Given the description of an element on the screen output the (x, y) to click on. 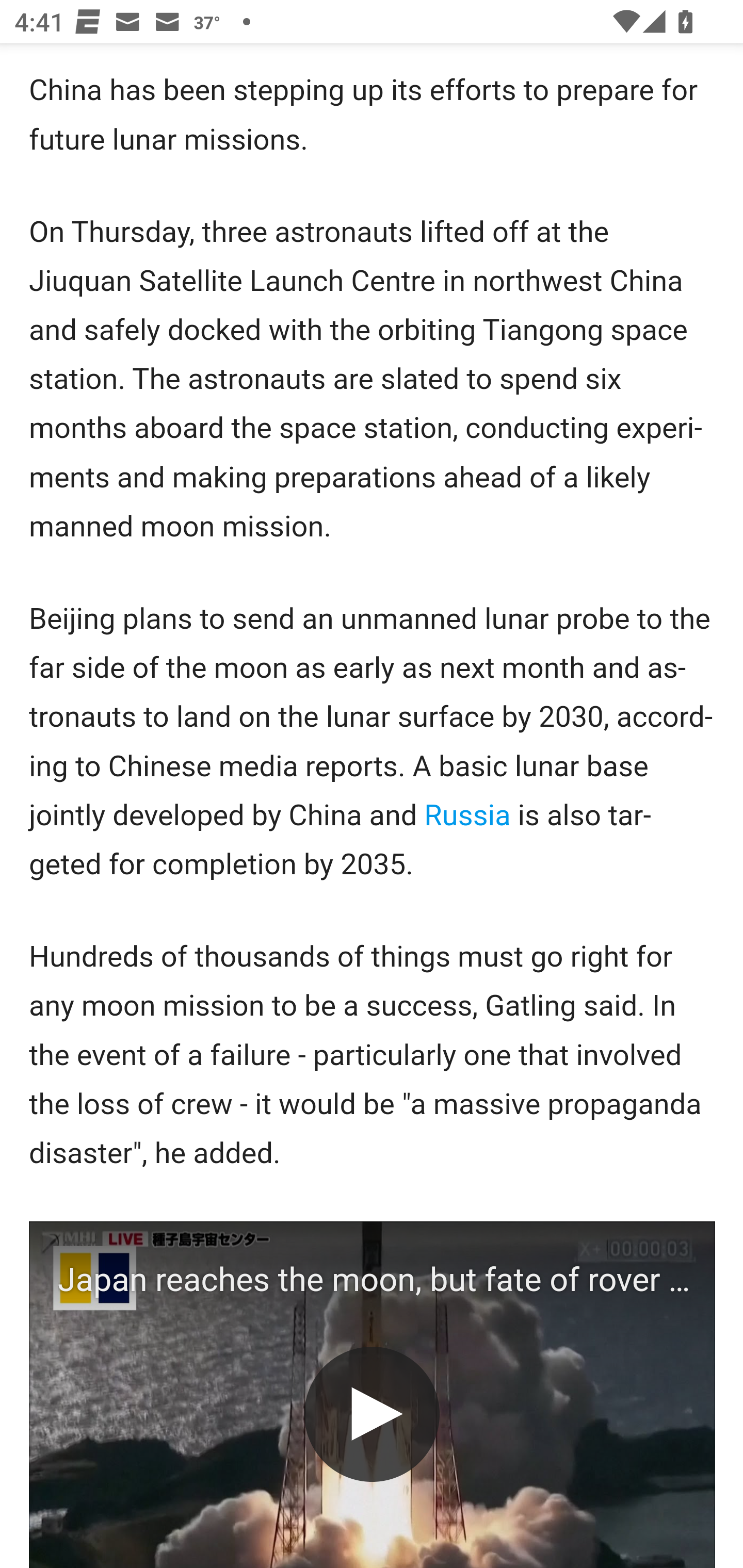
Russia (466, 814)
Play (371, 1414)
